Given the description of an element on the screen output the (x, y) to click on. 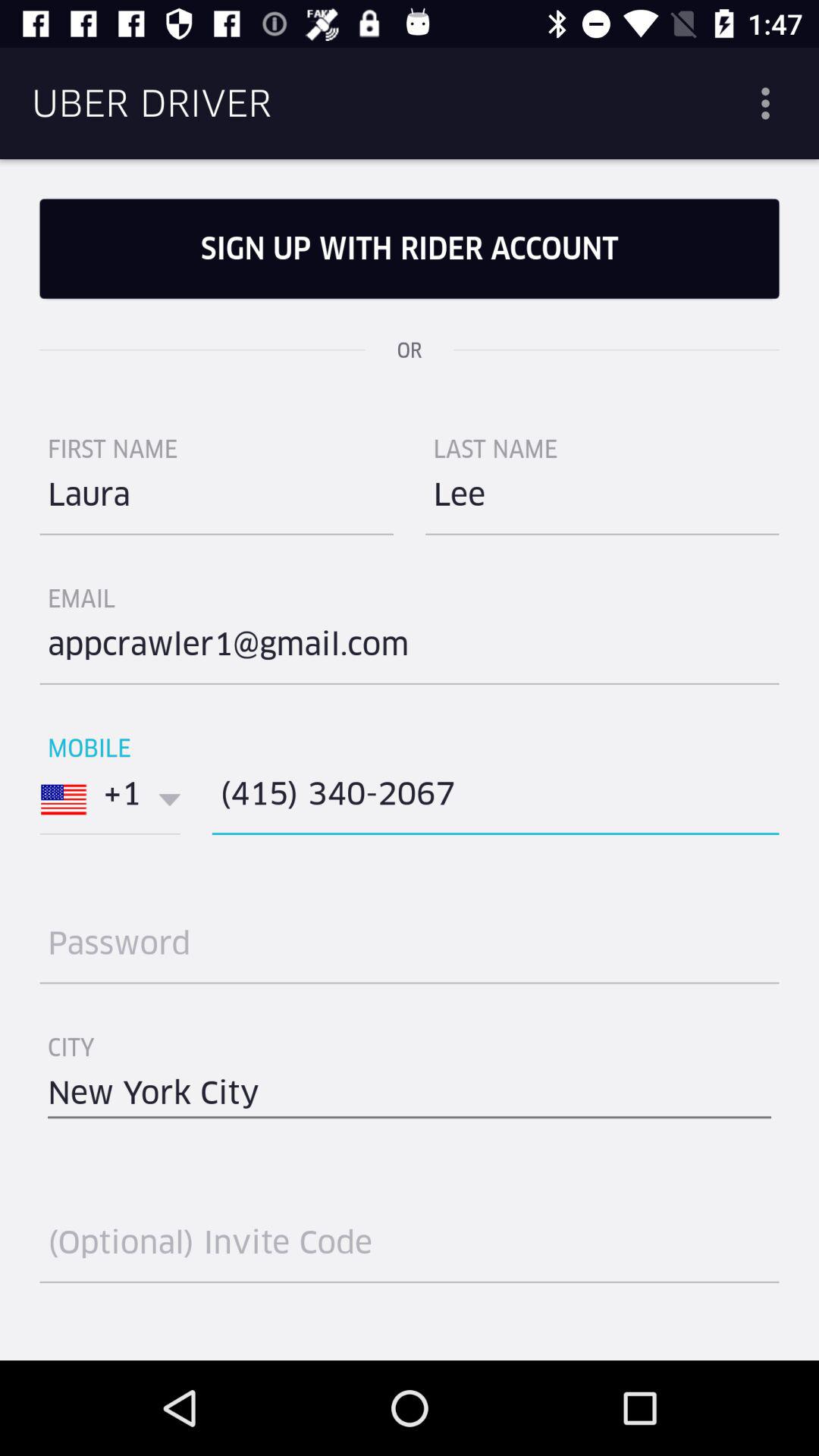
click the item above the mobile icon (409, 650)
